Given the description of an element on the screen output the (x, y) to click on. 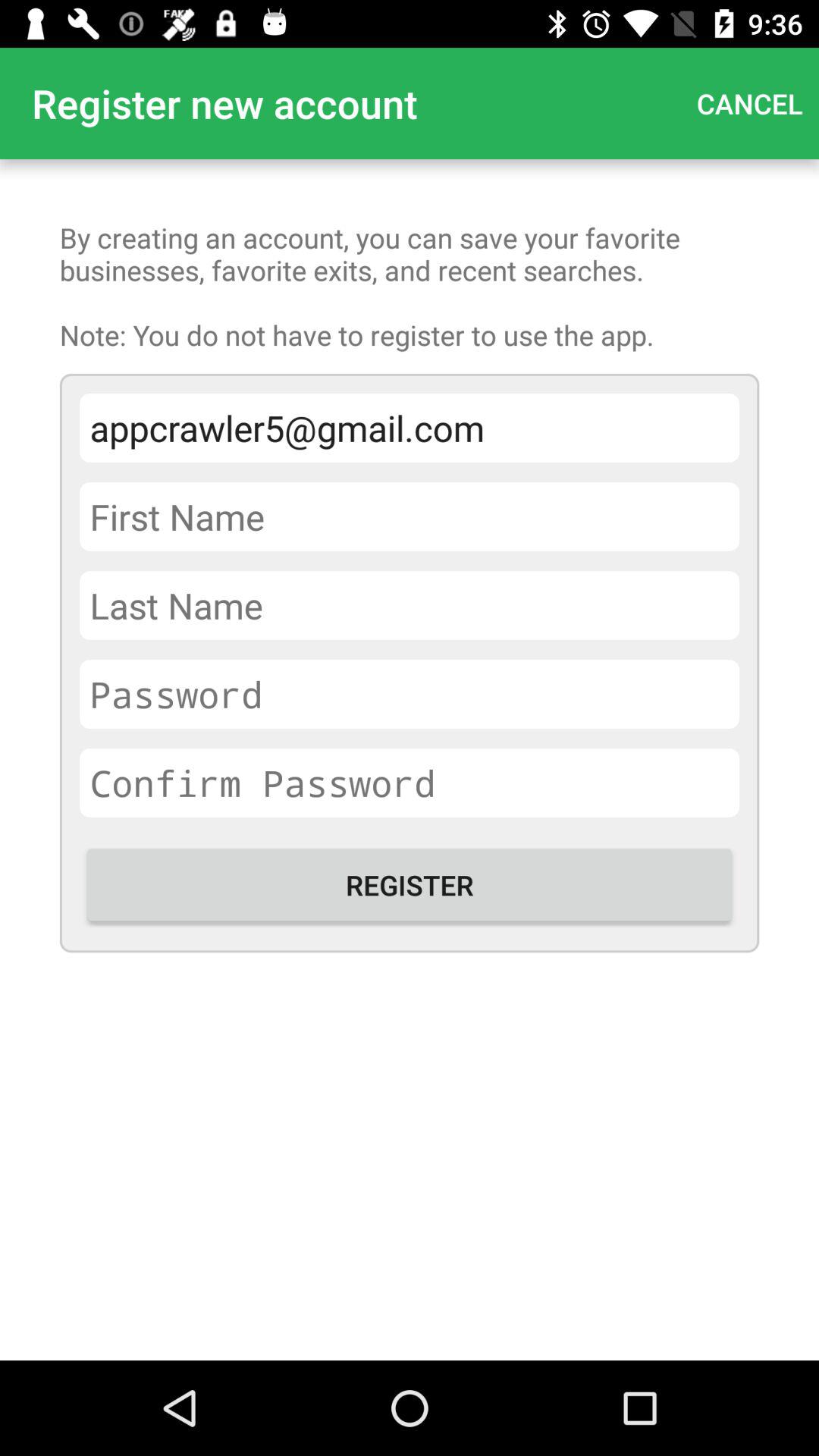
select the icon below the by creating an (409, 427)
